Given the description of an element on the screen output the (x, y) to click on. 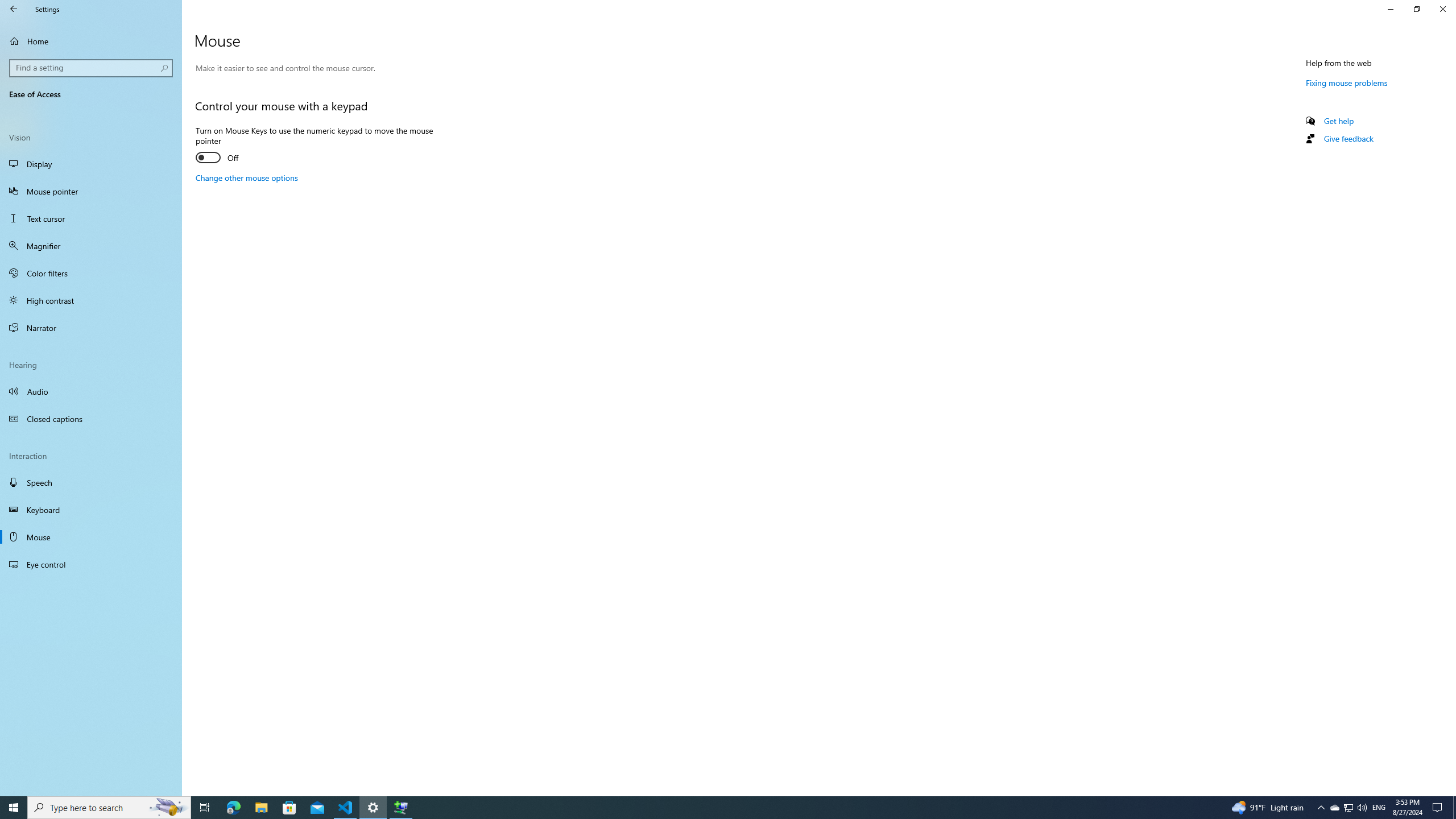
Minimize Settings (1390, 9)
Change other mouse options (246, 177)
Restore Settings (1416, 9)
Fixing mouse problems (1346, 82)
Get help (1338, 120)
Magnifier (91, 245)
Eye control (91, 564)
